Given the description of an element on the screen output the (x, y) to click on. 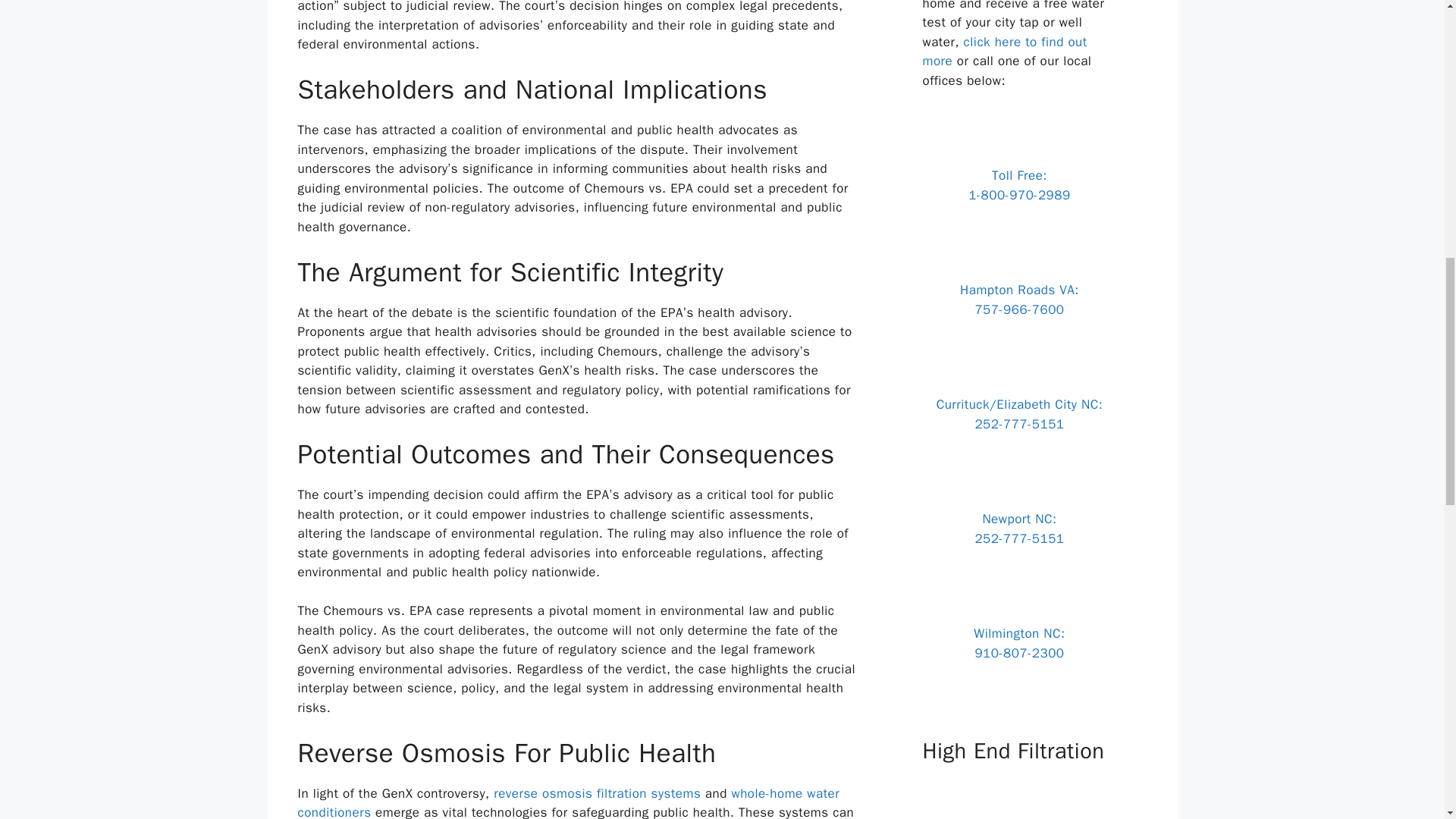
whole-home water conditioners (568, 802)
reverse osmosis filtration systems (596, 793)
